Given the description of an element on the screen output the (x, y) to click on. 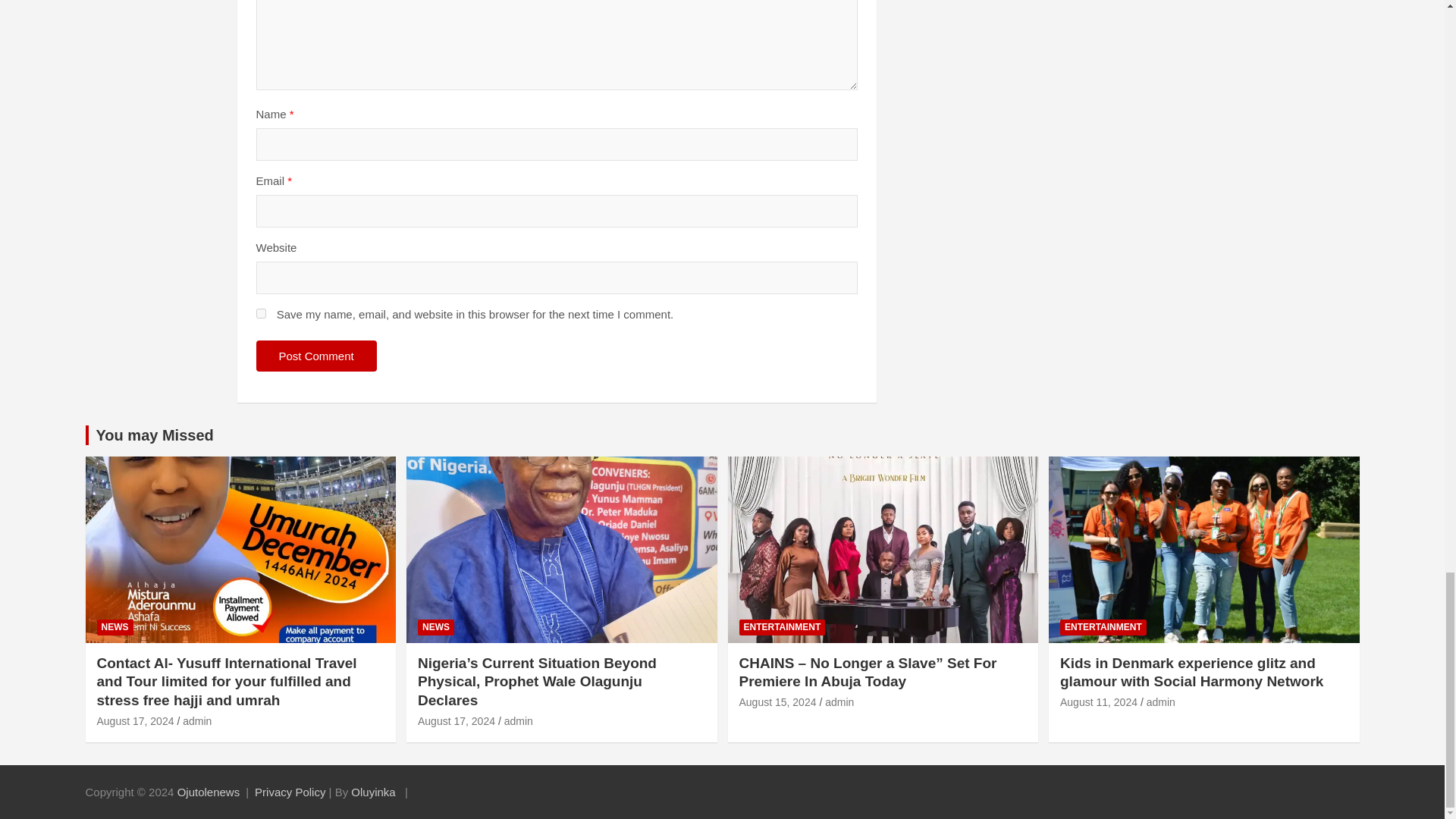
Post Comment (316, 355)
yes (261, 313)
Ojutolenews (208, 791)
